Given the description of an element on the screen output the (x, y) to click on. 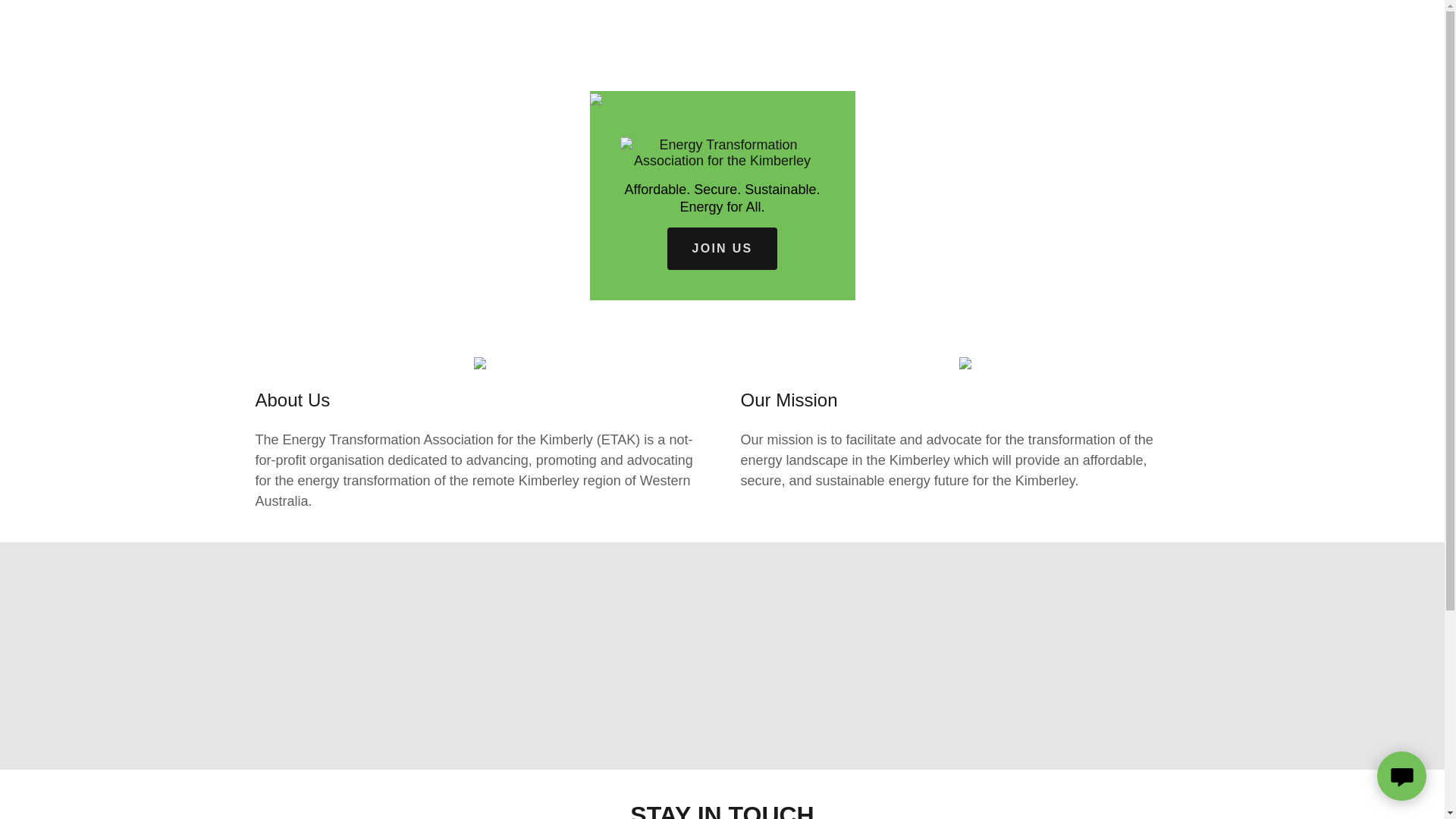
JOIN US Element type: text (721, 248)
Energy Transformation Association for the Kimberley Element type: hover (722, 152)
